Given the description of an element on the screen output the (x, y) to click on. 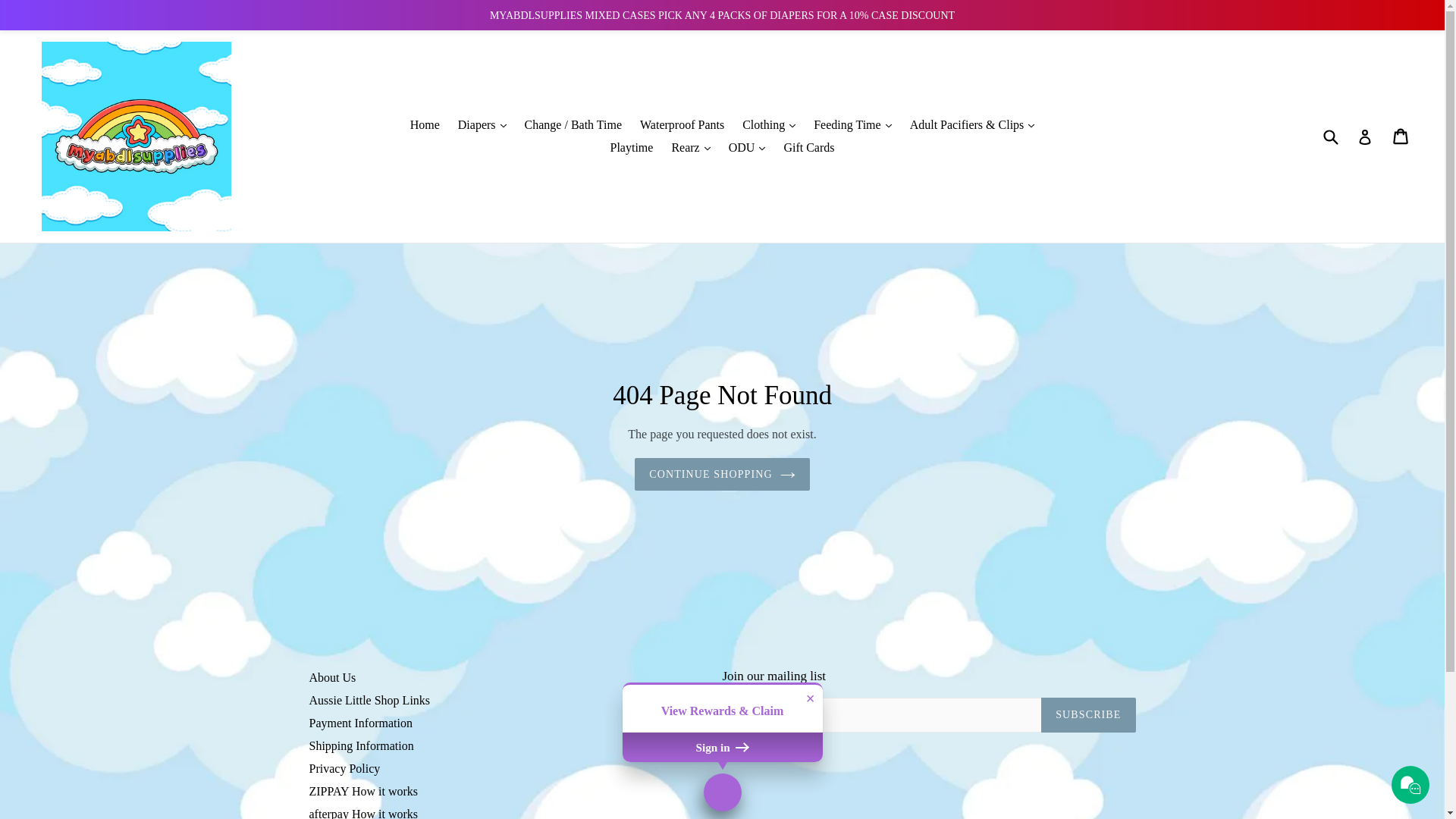
Aussie Little Shop Links Element type: text (369, 699)
Log in Element type: text (1364, 136)
Shipping Information Element type: text (361, 745)
CONTINUE SHOPPING Element type: text (721, 474)
Home Element type: text (424, 124)
Playtime Element type: text (631, 147)
Sign in Element type: text (721, 746)
Waterproof Pants Element type: text (681, 124)
Privacy Policy Element type: text (344, 768)
ZIPPAY How it works Element type: text (363, 790)
Gift Cards Element type: text (808, 147)
Payment Information Element type: text (360, 722)
About Us Element type: text (332, 677)
SUBSCRIBE Element type: text (1088, 714)
Change / Bath Time Element type: text (573, 124)
Cart Element type: text (1401, 136)
Submit Element type: text (1329, 135)
